Given the description of an element on the screen output the (x, y) to click on. 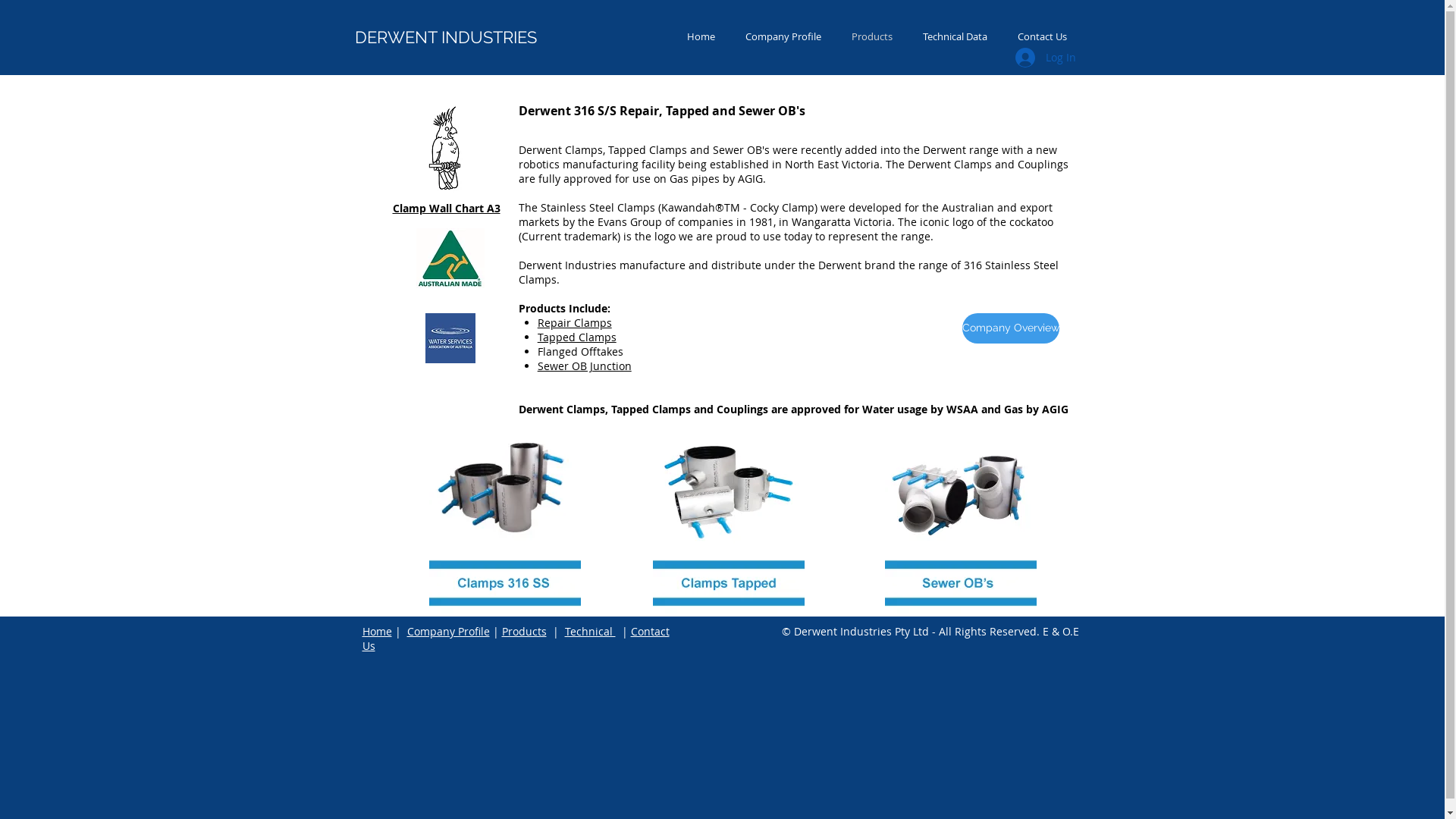
Tapped Clamps Element type: text (576, 336)
Company Profile Element type: text (782, 36)
DERWENT INDUSTRIES Element type: text (445, 37)
Contact Us Element type: text (1042, 36)
Clamp Wall Chart A3 Element type: text (446, 207)
Home Element type: text (377, 631)
Technical Data Element type: text (953, 36)
Technical Element type: text (589, 631)
Repair Clamps Element type: text (574, 322)
Home Element type: text (700, 36)
Contact Us Element type: text (515, 638)
Sewer OB Junction Element type: text (584, 365)
Products Element type: text (524, 631)
Company Profile Element type: text (447, 631)
Log In Element type: text (1044, 57)
Products Element type: text (870, 36)
Company Overview Element type: text (1009, 328)
